Given the description of an element on the screen output the (x, y) to click on. 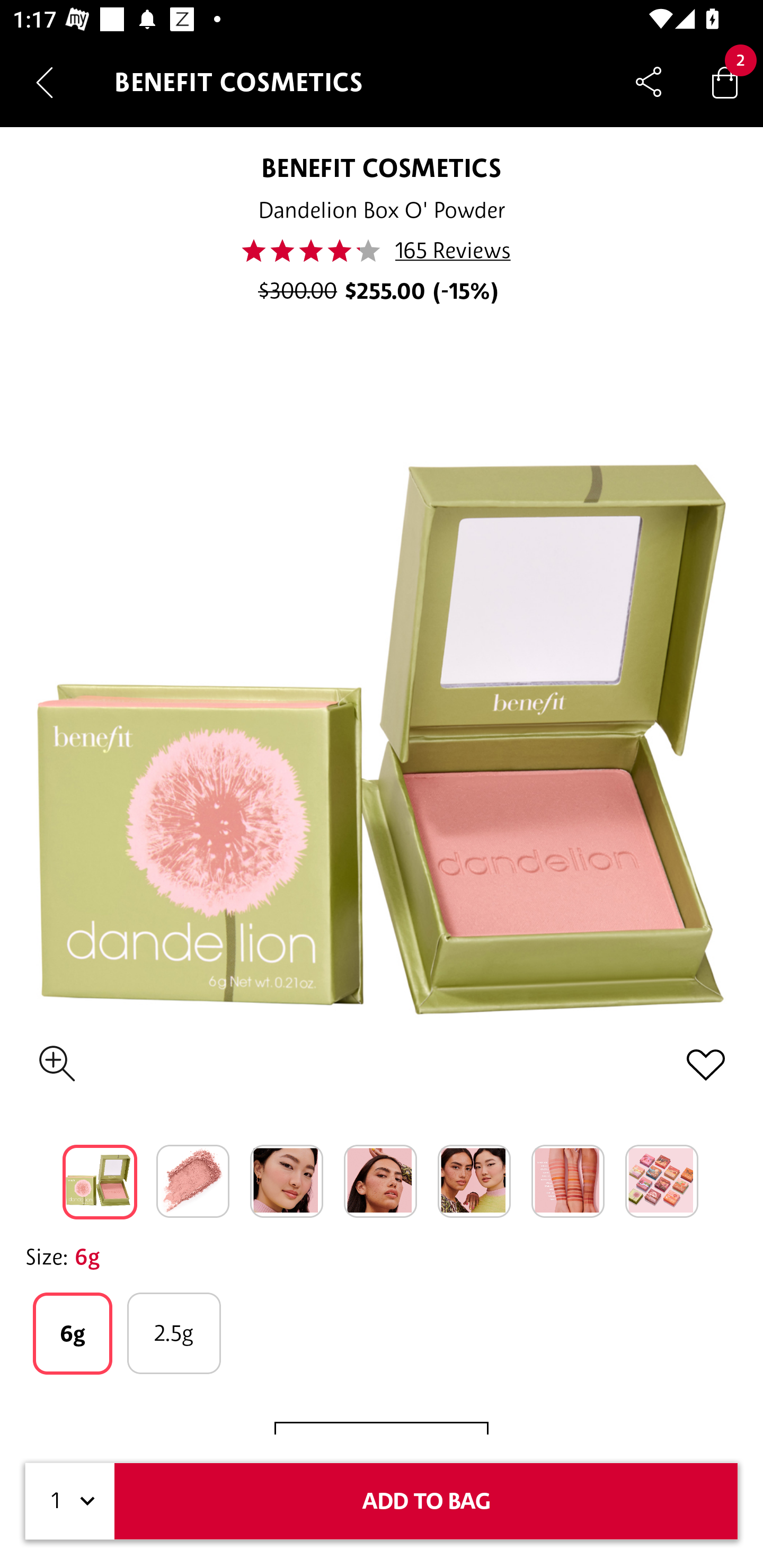
Navigate up (44, 82)
Share (648, 81)
Bag (724, 81)
BENEFIT COSMETICS (381, 167)
42.0 165 Reviews (381, 250)
6g (72, 1333)
2.5g (174, 1332)
1 (69, 1500)
ADD TO BAG (425, 1500)
